Given the description of an element on the screen output the (x, y) to click on. 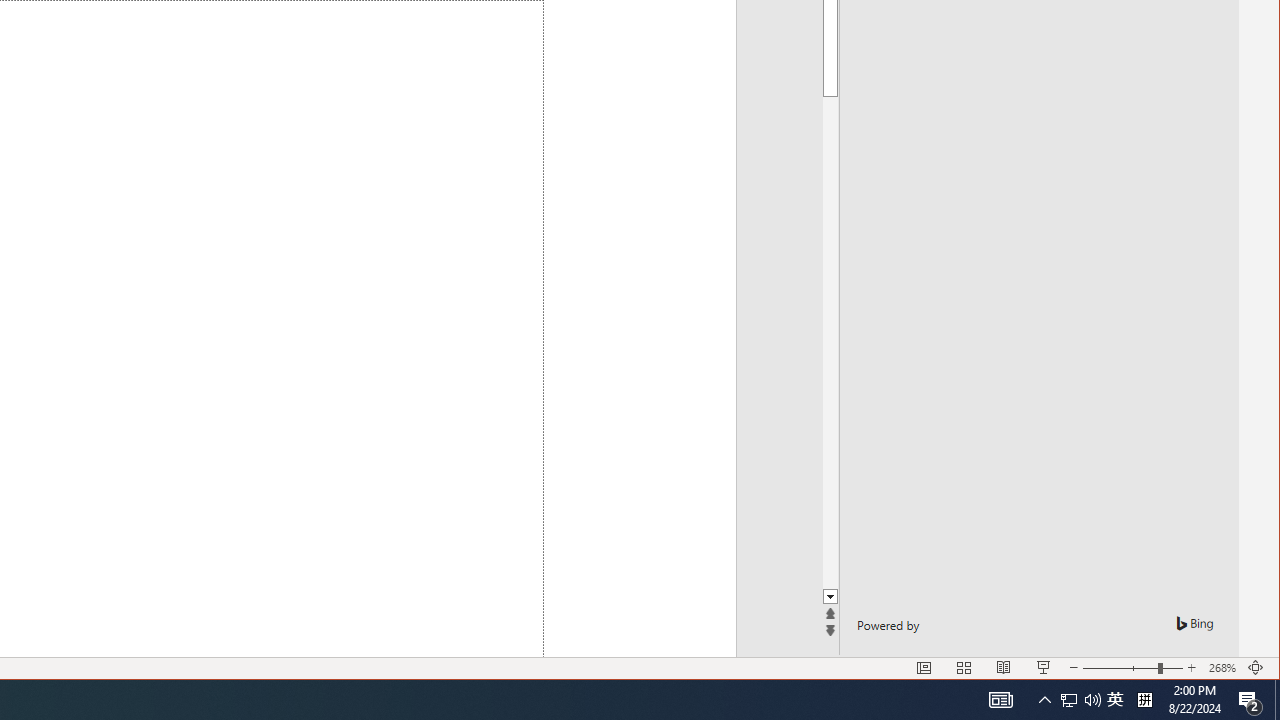
Zoom 268% (1222, 668)
